Given the description of an element on the screen output the (x, y) to click on. 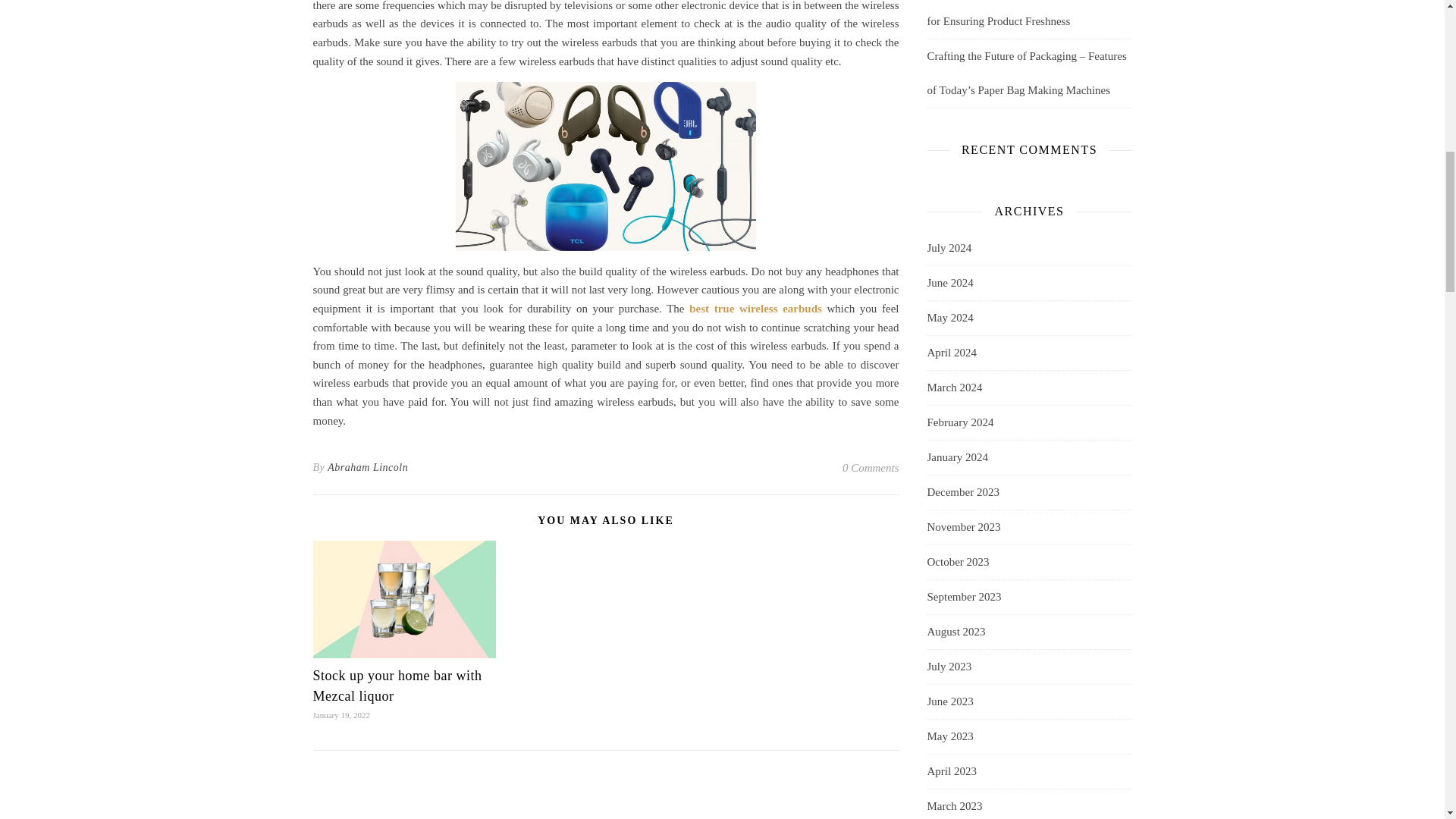
March 2024 (953, 387)
Stock up your home bar with Mezcal liquor (397, 685)
Posts by Abraham Lincoln (367, 467)
April 2024 (950, 352)
December 2023 (962, 492)
0 Comments (871, 467)
best true wireless earbuds (755, 308)
May 2024 (949, 317)
January 2024 (956, 457)
October 2023 (957, 562)
Abraham Lincoln (367, 467)
November 2023 (963, 527)
February 2024 (959, 422)
July 2024 (948, 247)
June 2024 (949, 283)
